Given the description of an element on the screen output the (x, y) to click on. 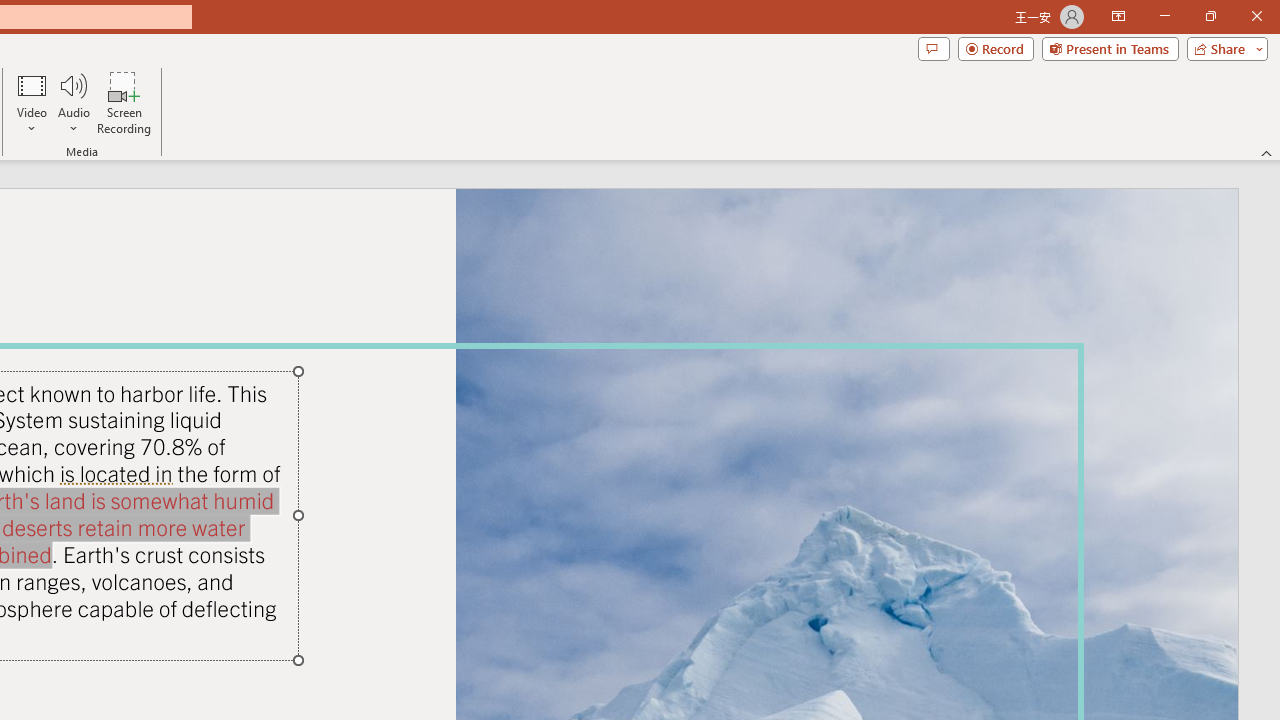
Screen Recording... (123, 102)
Video (31, 102)
